Given the description of an element on the screen output the (x, y) to click on. 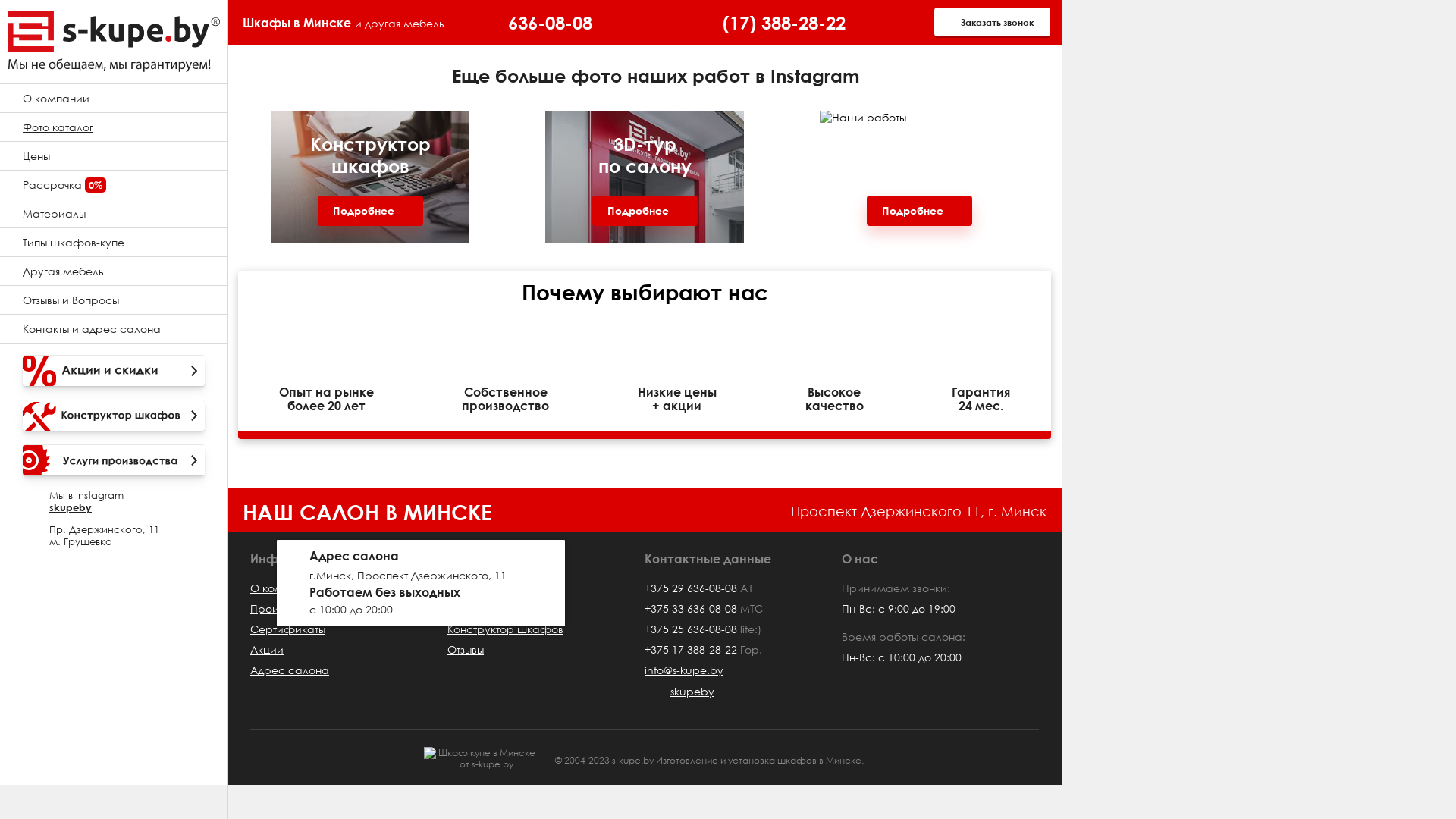
skupeby Element type: text (70, 507)
info@s-kupe.by Element type: text (683, 669)
skupeby Element type: text (679, 690)
(17) 388-28-22 Element type: text (783, 22)
636-08-08 Element type: text (550, 22)
